Given the description of an element on the screen output the (x, y) to click on. 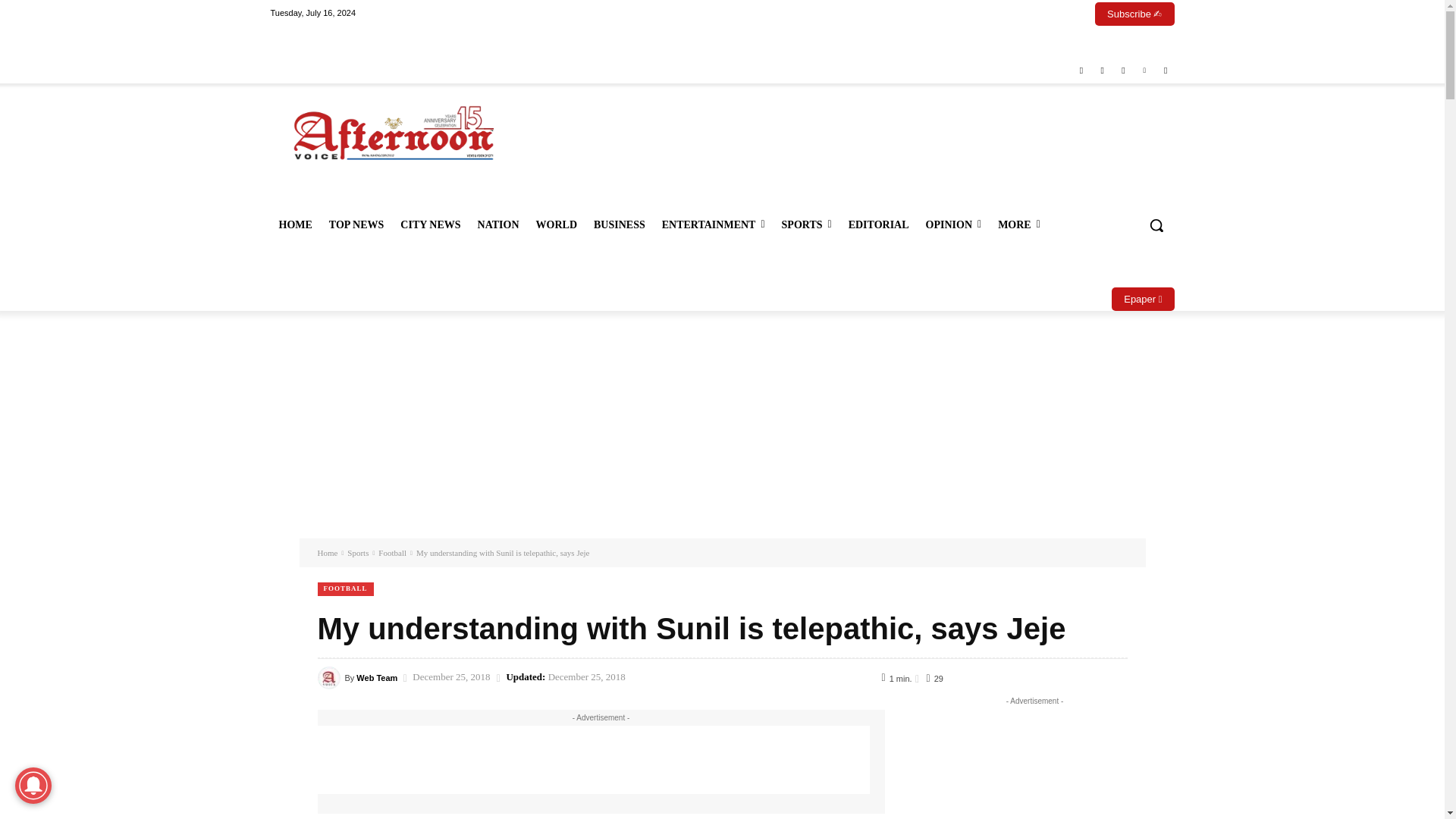
Advertisement (827, 150)
Vimeo (1144, 70)
Instagram (1101, 70)
Facebook (1081, 70)
Youtube (1165, 70)
Twitter (1123, 70)
